Given the description of an element on the screen output the (x, y) to click on. 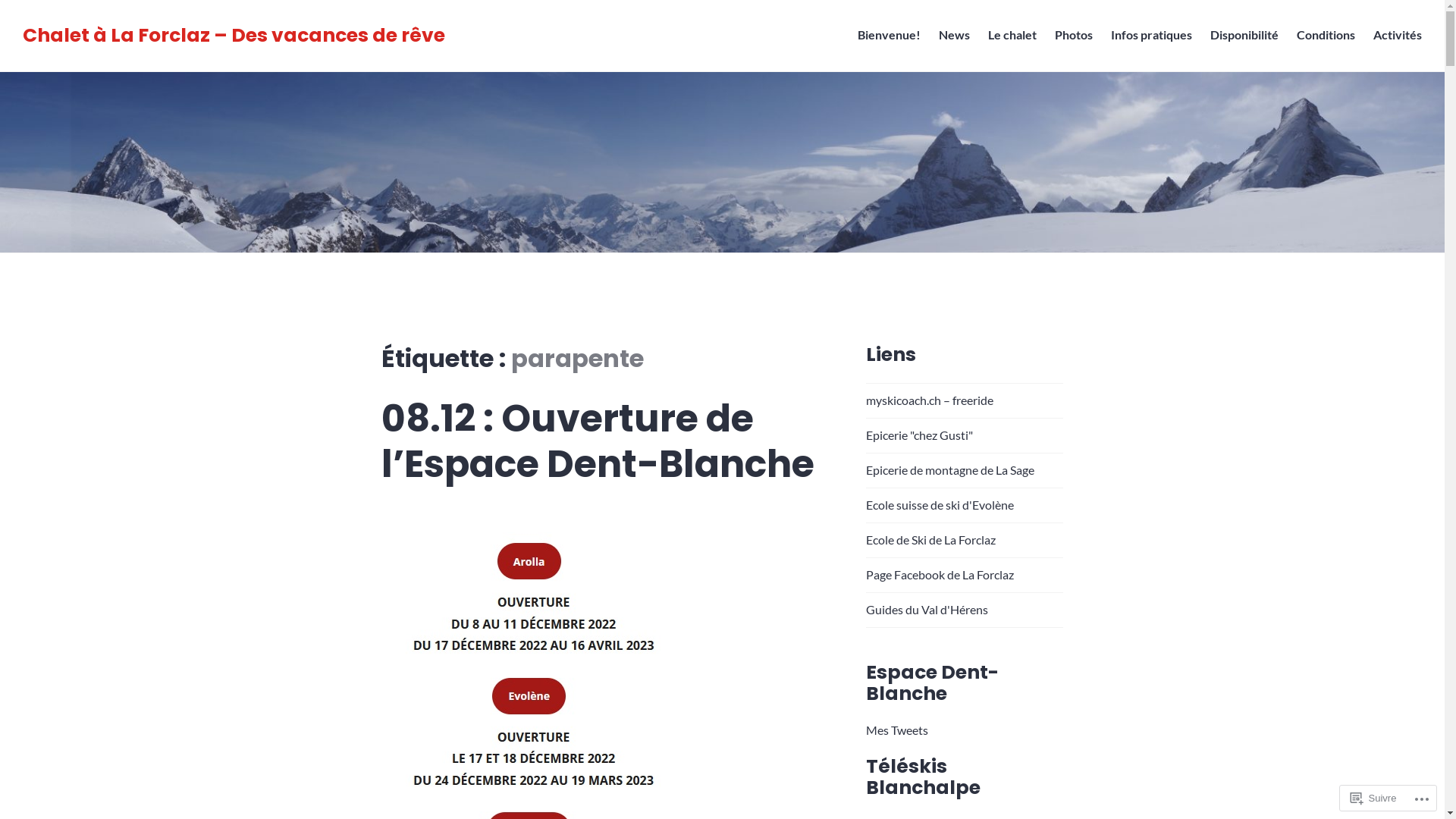
Conditions Element type: text (1325, 35)
Infos pratiques Element type: text (1151, 35)
Photos Element type: text (1073, 35)
Mes Tweets Element type: text (897, 728)
Suivre Element type: text (1373, 797)
Page Facebook de La Forclaz Element type: text (939, 574)
Ecole de Ski de La Forclaz Element type: text (930, 539)
News Element type: text (953, 35)
Epicerie de montagne de La Sage Element type: text (950, 469)
Le chalet Element type: text (1012, 35)
Epicerie "chez Gusti" Element type: text (919, 434)
Bienvenue! Element type: text (888, 35)
